Given the description of an element on the screen output the (x, y) to click on. 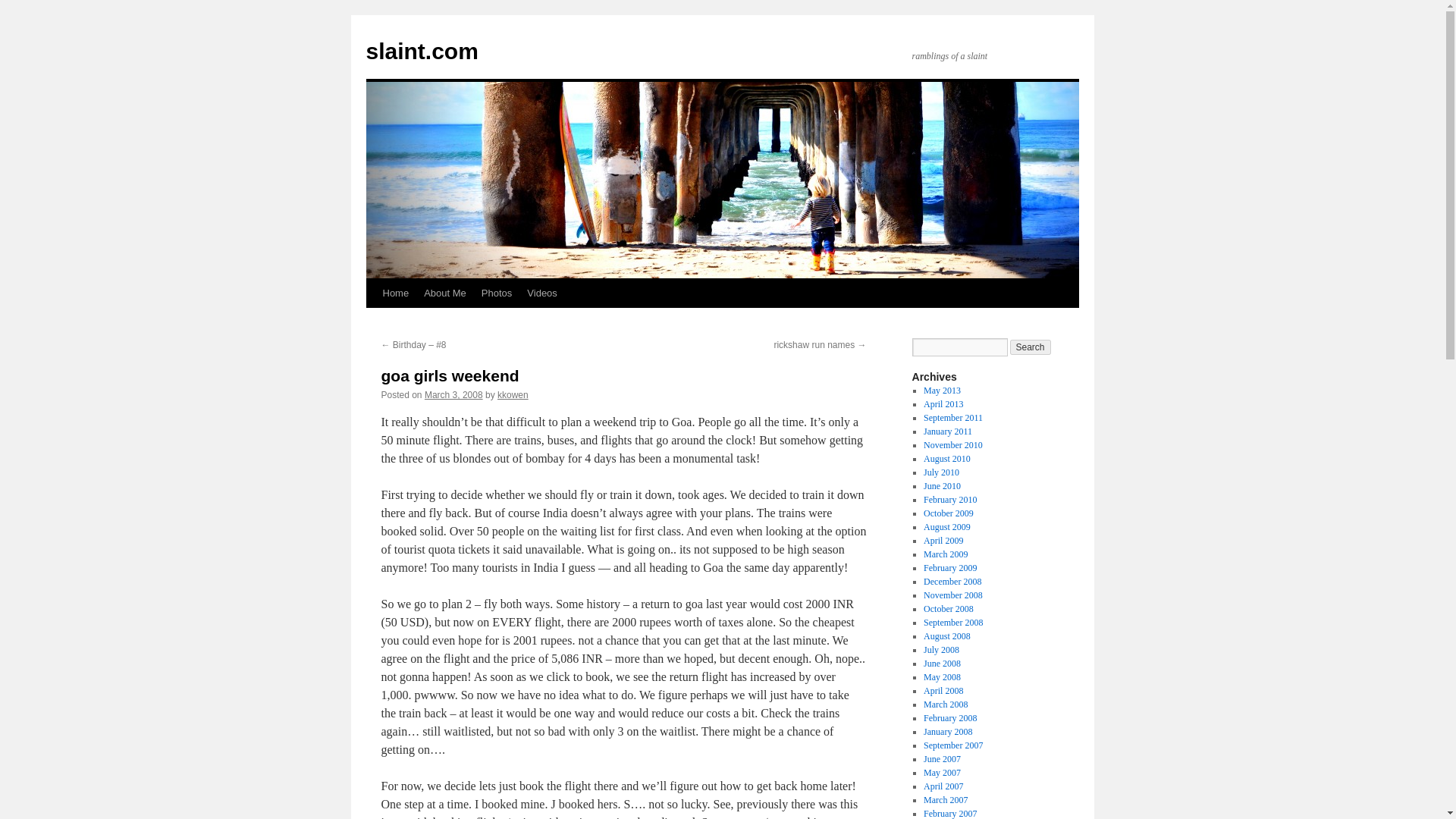
February 2009 (949, 567)
June 2010 (941, 485)
Home (395, 293)
March 2009 (945, 553)
View all posts by kkowen (512, 394)
July 2008 (941, 649)
November 2008 (952, 594)
September 2011 (952, 417)
Search (1030, 346)
April 2009 (942, 540)
